Given the description of an element on the screen output the (x, y) to click on. 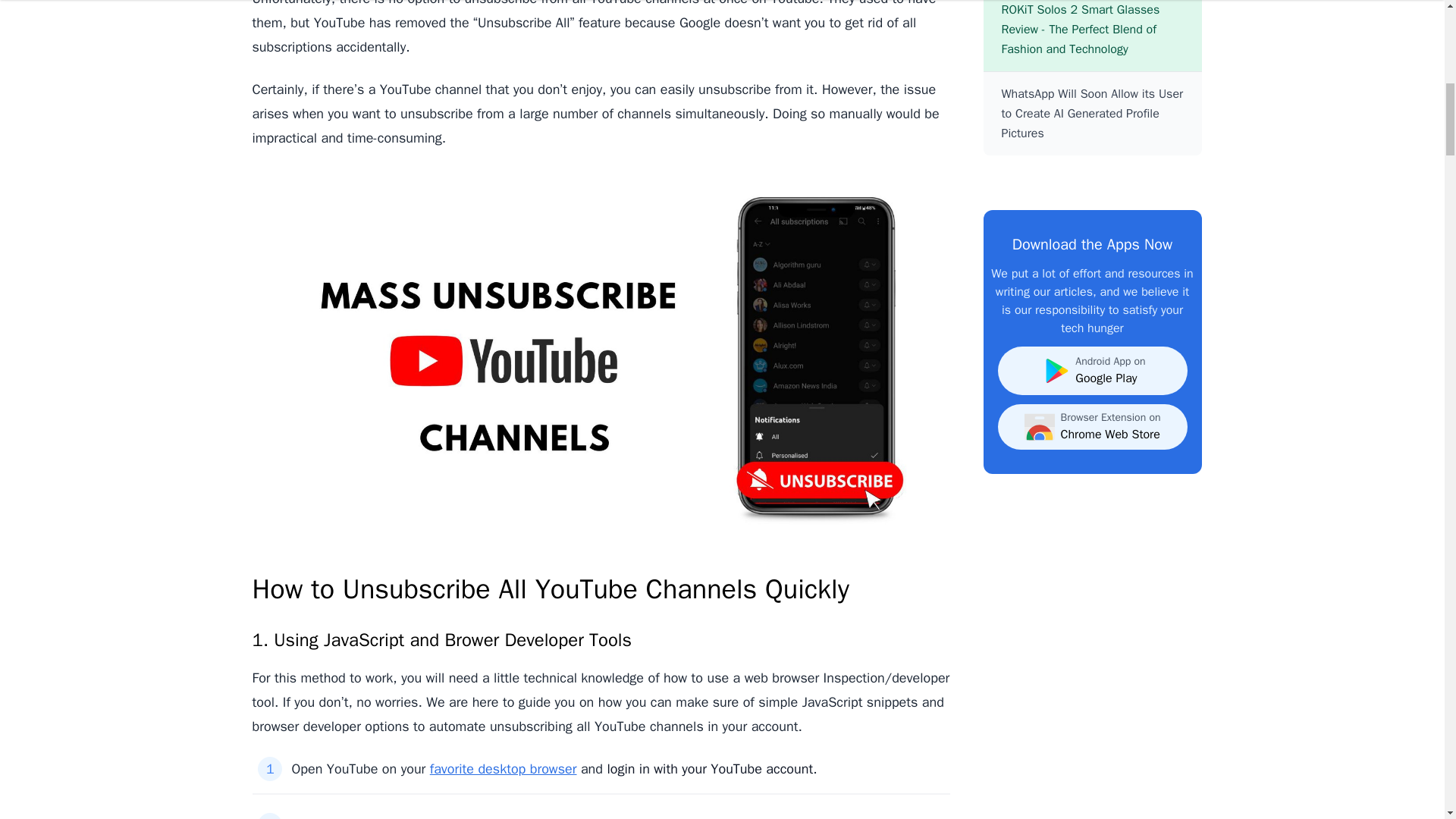
favorite desktop browser (502, 768)
